Given the description of an element on the screen output the (x, y) to click on. 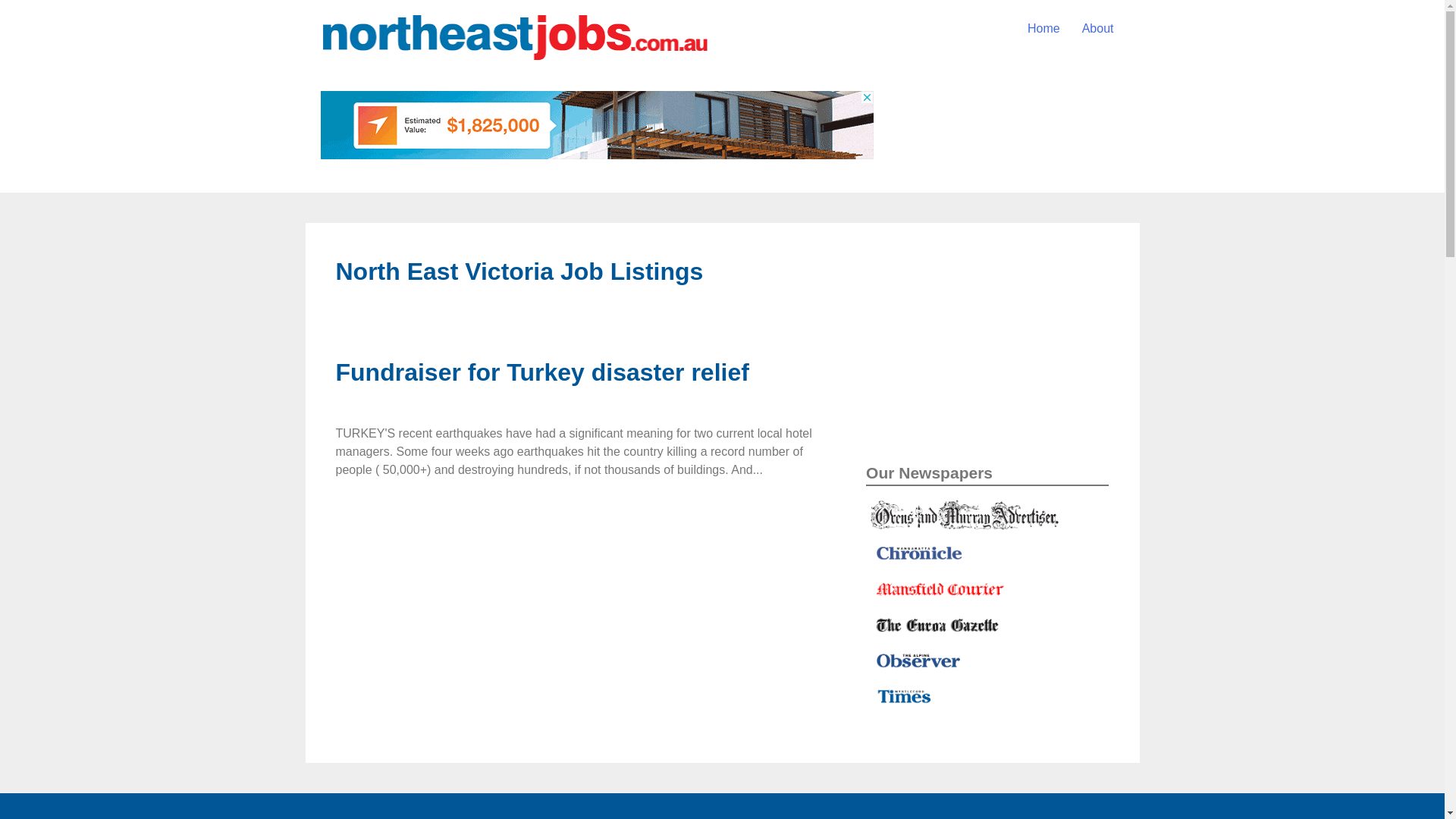
About Element type: text (1097, 28)
3rd party ad content Element type: hover (596, 125)
North-East-Jobs-web-address Element type: hover (513, 37)
Home Element type: text (1043, 28)
